Given the description of an element on the screen output the (x, y) to click on. 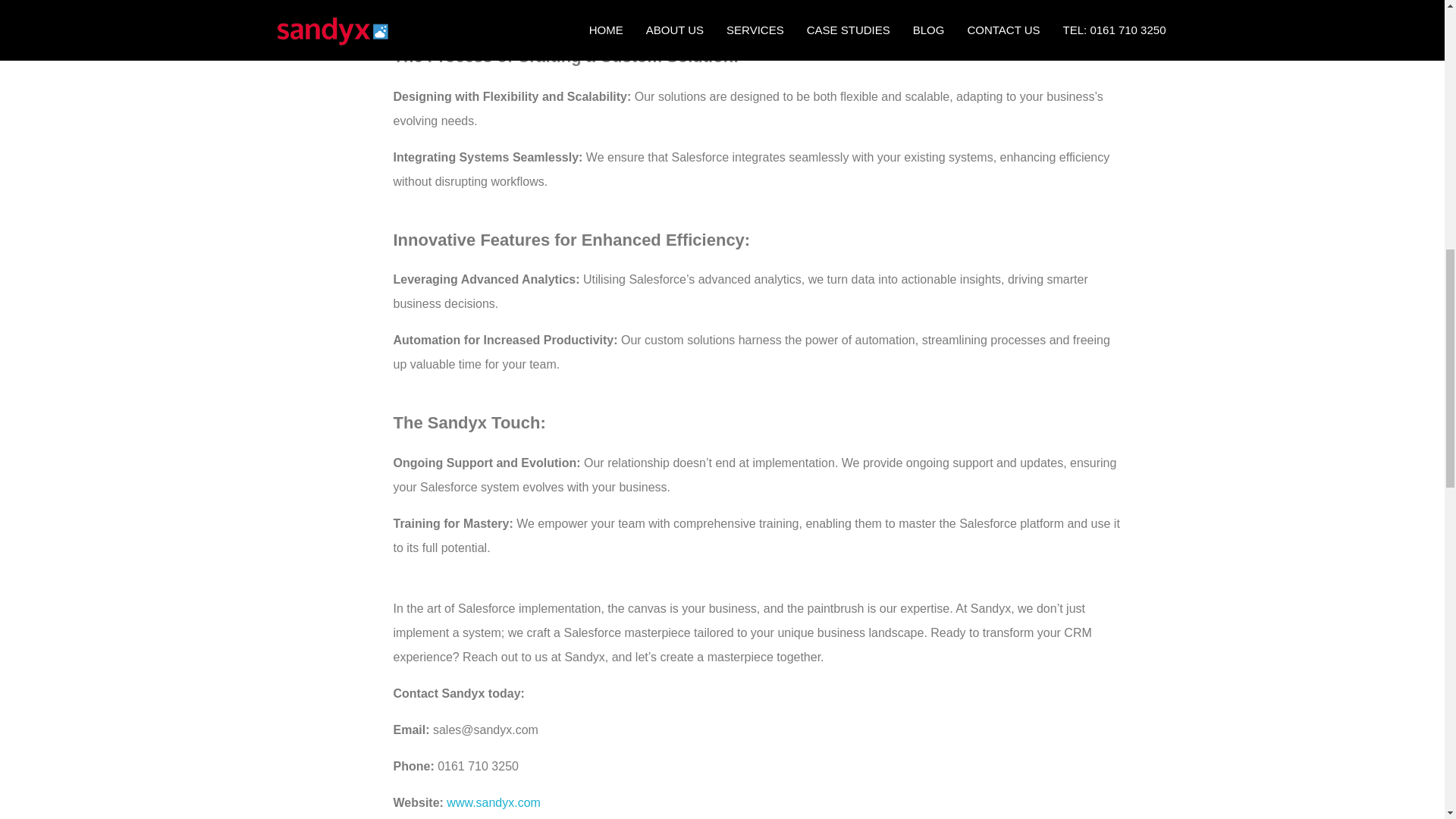
www.sandyx.com (493, 802)
